Given the description of an element on the screen output the (x, y) to click on. 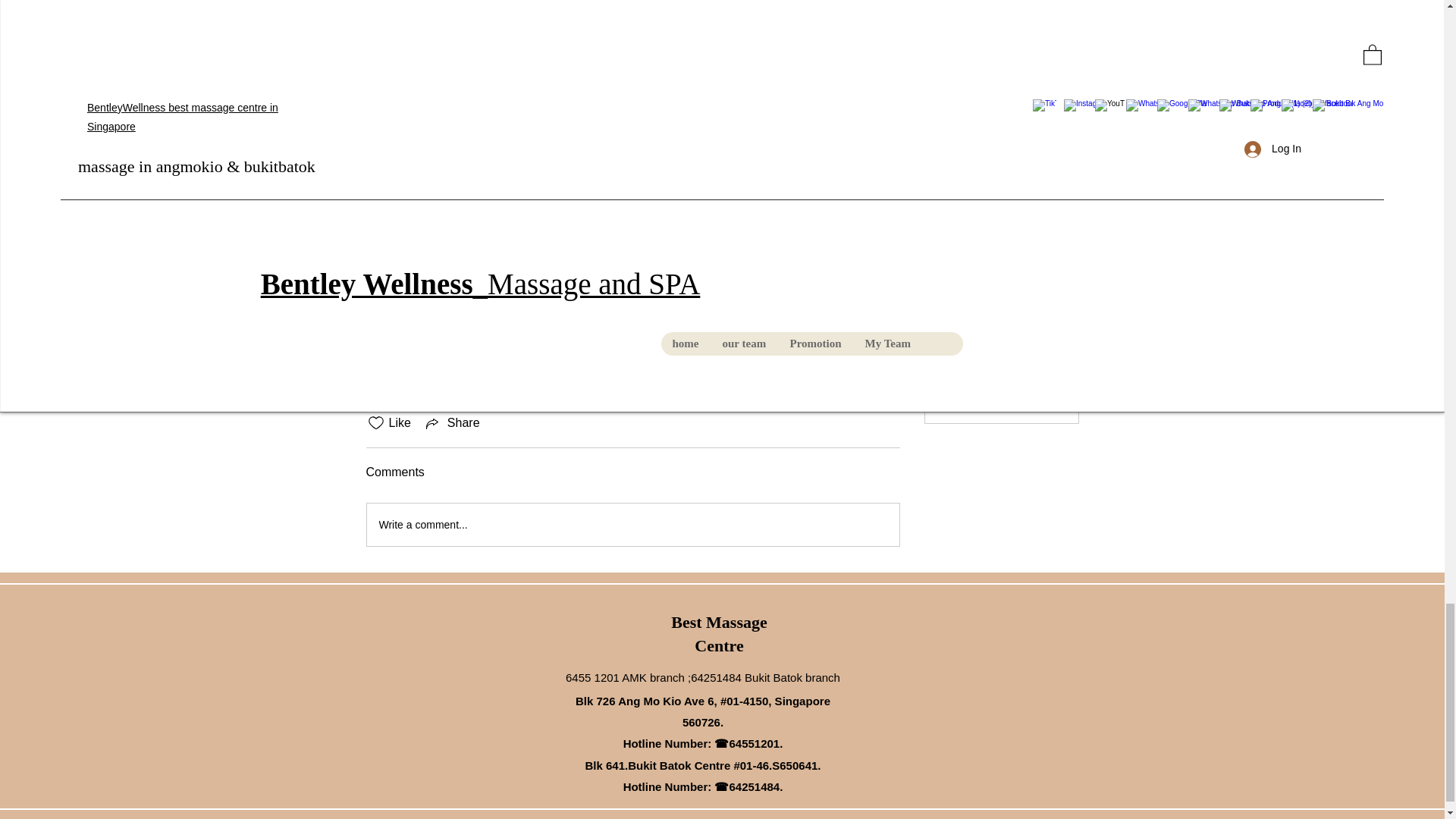
Write a comment... (632, 524)
Share (451, 423)
Best Massage Centre (719, 633)
